Given the description of an element on the screen output the (x, y) to click on. 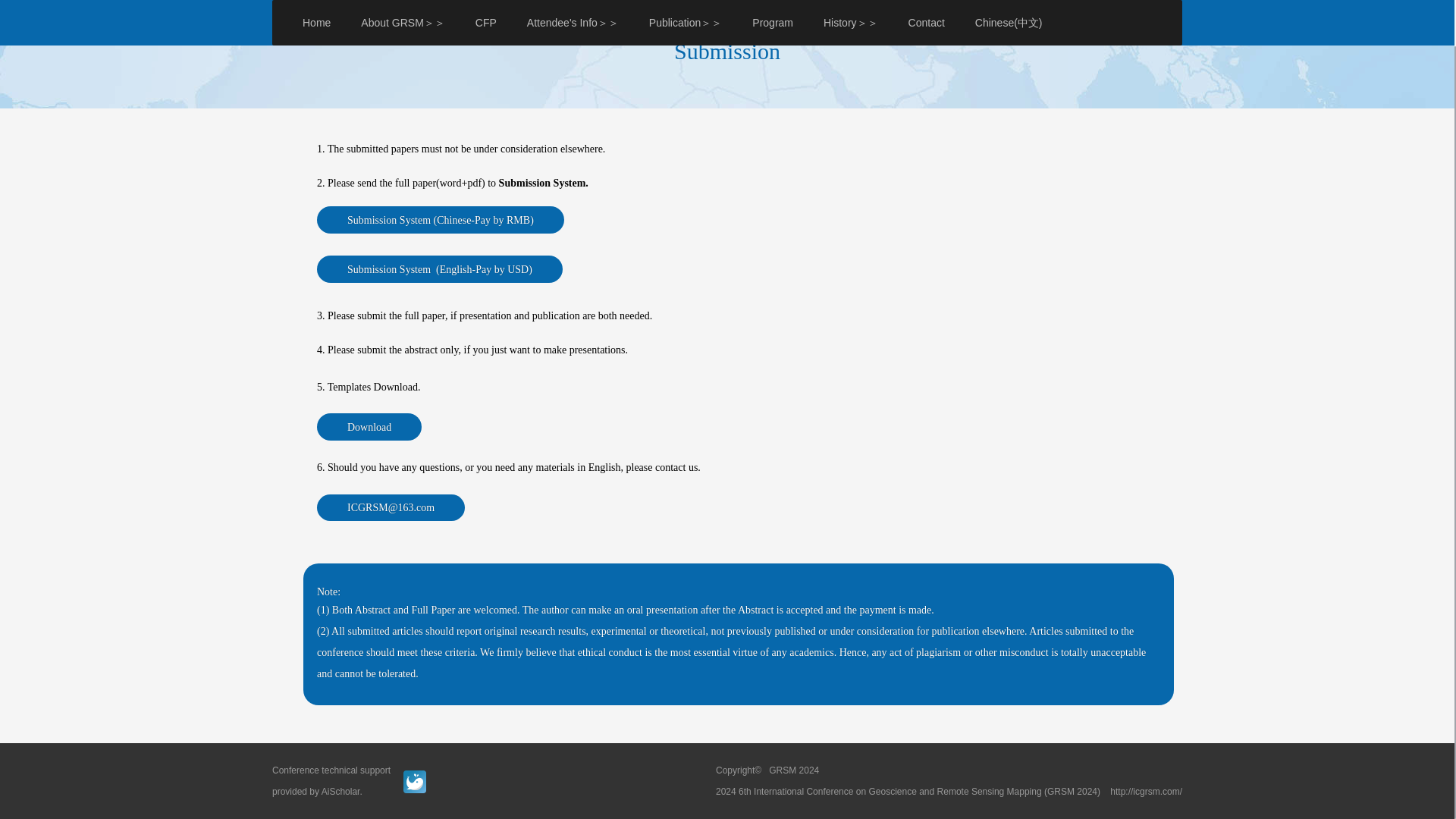
Home (1109, 30)
Download (369, 426)
